Given the description of an element on the screen output the (x, y) to click on. 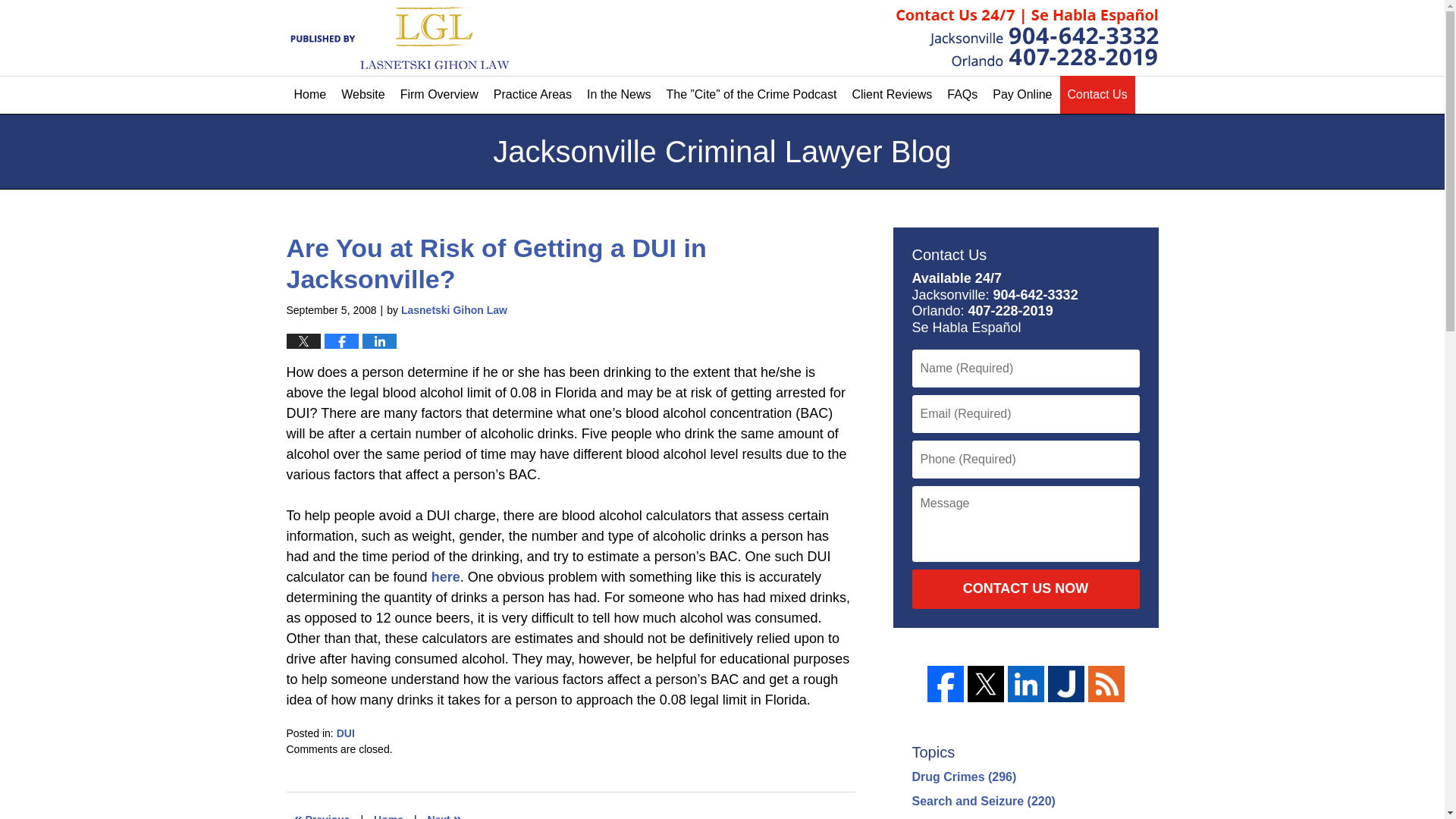
Twitter (986, 683)
Published By Lasnetski Gihon Law (1027, 37)
DUI (345, 733)
Contact Us (1097, 94)
FAQs (962, 94)
Home (388, 812)
Jacksonville Criminal Lawyer Blog (397, 36)
Please enter a valid phone number. (1024, 459)
CONTACT US NOW (1024, 589)
Website (363, 94)
Facebook (944, 683)
View all posts in DUI (345, 733)
LinkedIn (1025, 683)
Justia (1066, 683)
